Given the description of an element on the screen output the (x, y) to click on. 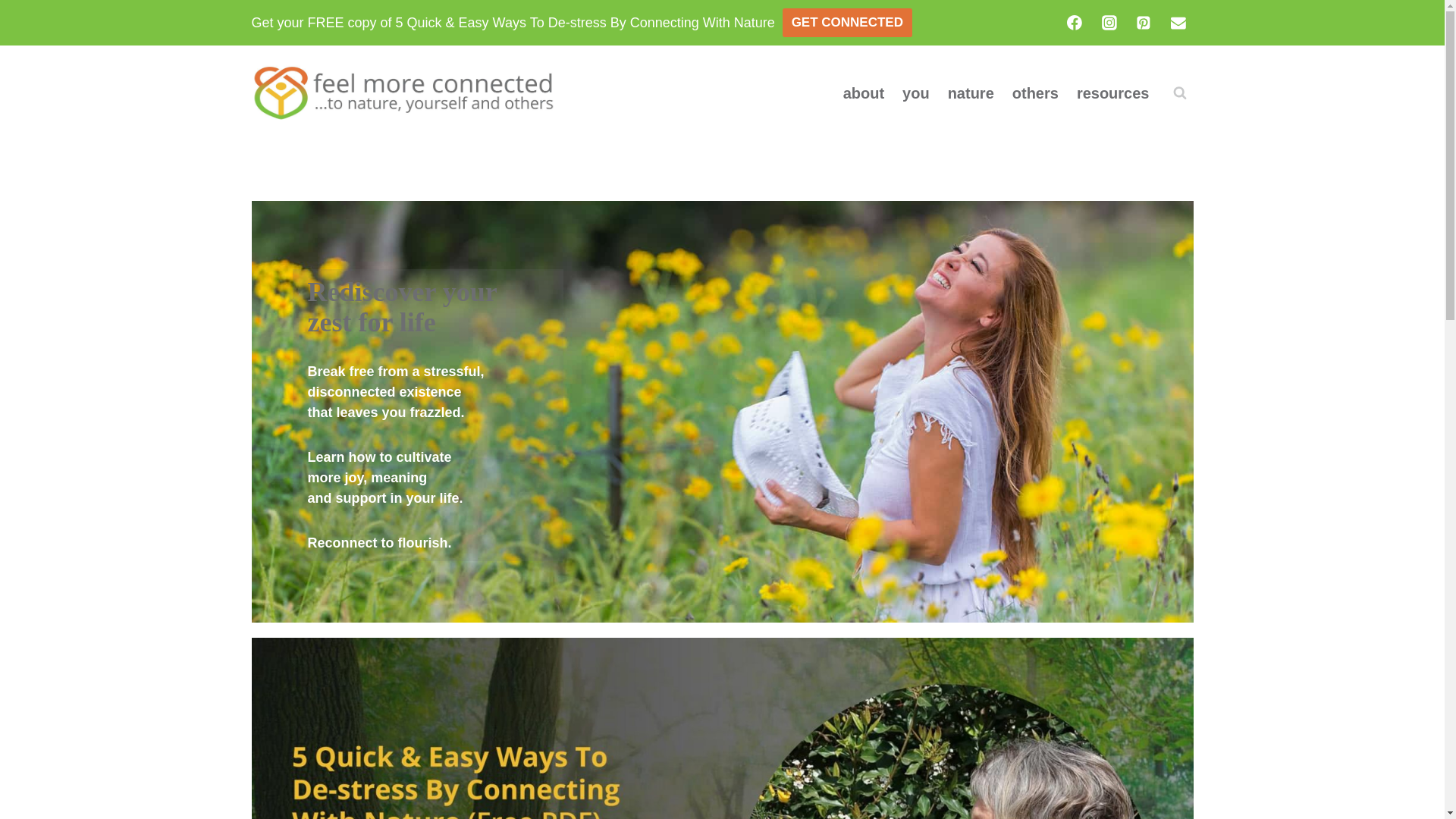
GET CONNECTED (847, 22)
resources (1112, 92)
